Given the description of an element on the screen output the (x, y) to click on. 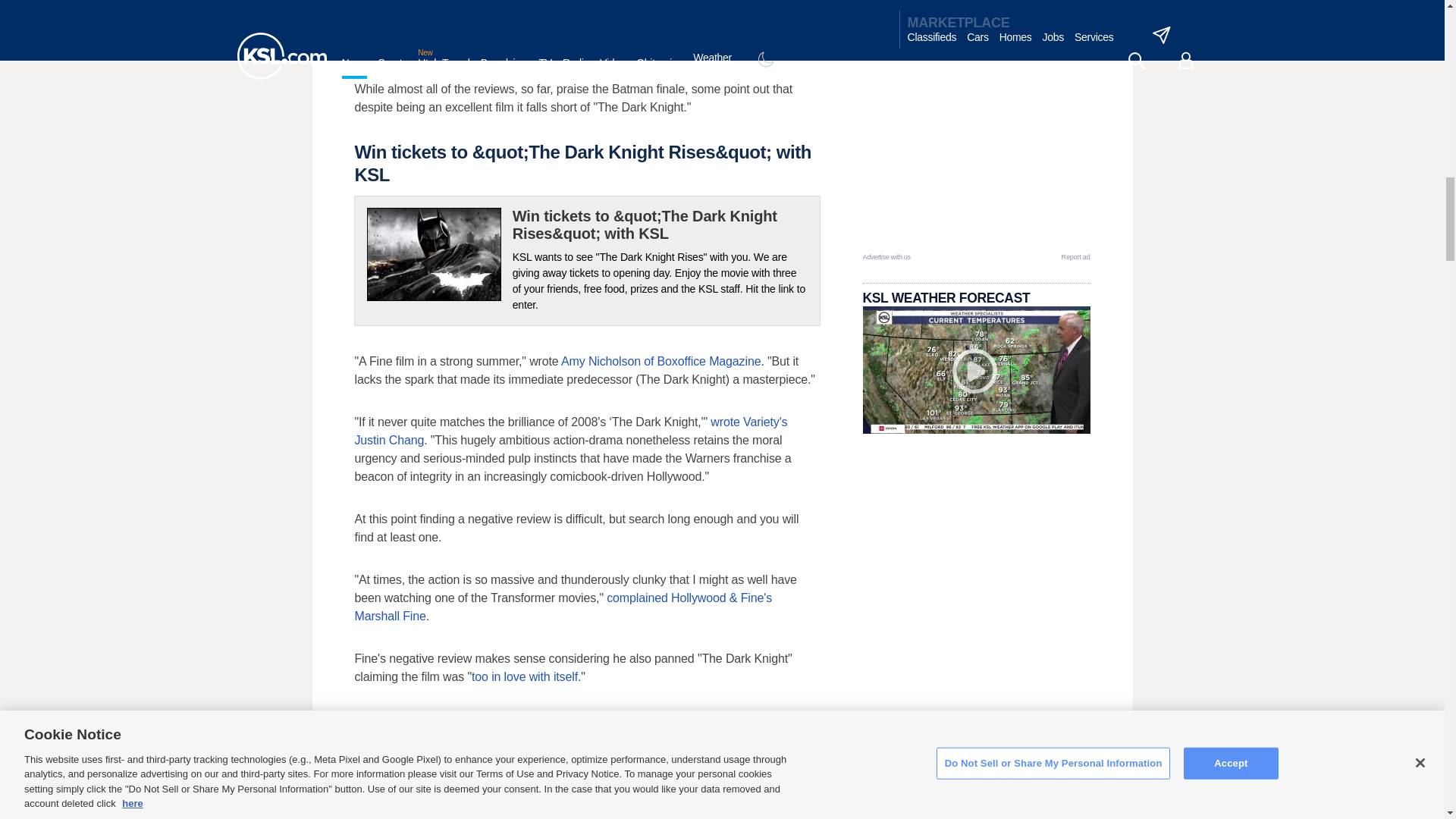
3rd party ad content (976, 155)
